Given the description of an element on the screen output the (x, y) to click on. 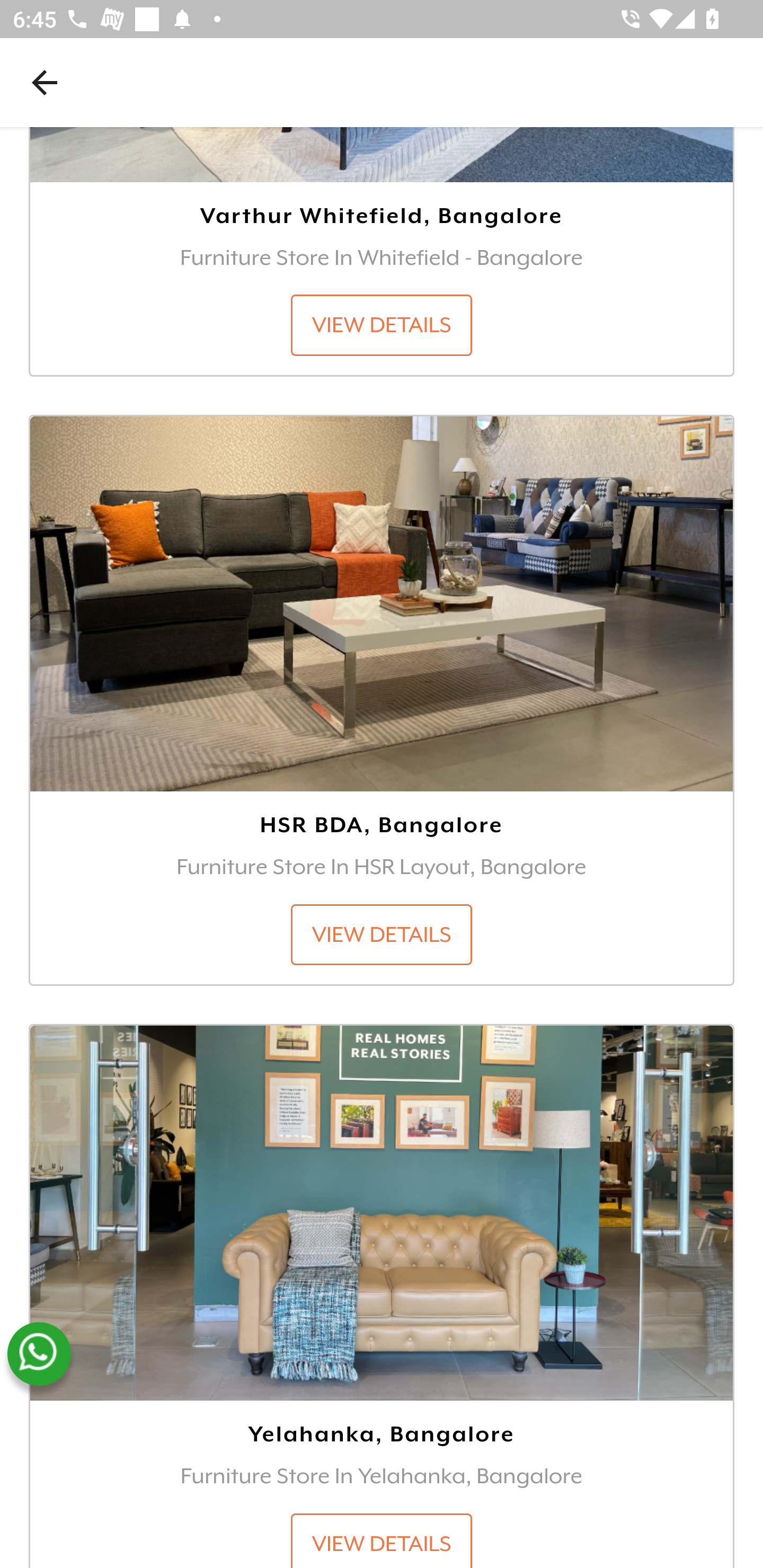
Navigate up (44, 82)
VIEW DETAILS (381, 325)
VIEW DETAILS (381, 934)
whatsapp (38, 1354)
VIEW DETAILS (381, 1540)
